Given the description of an element on the screen output the (x, y) to click on. 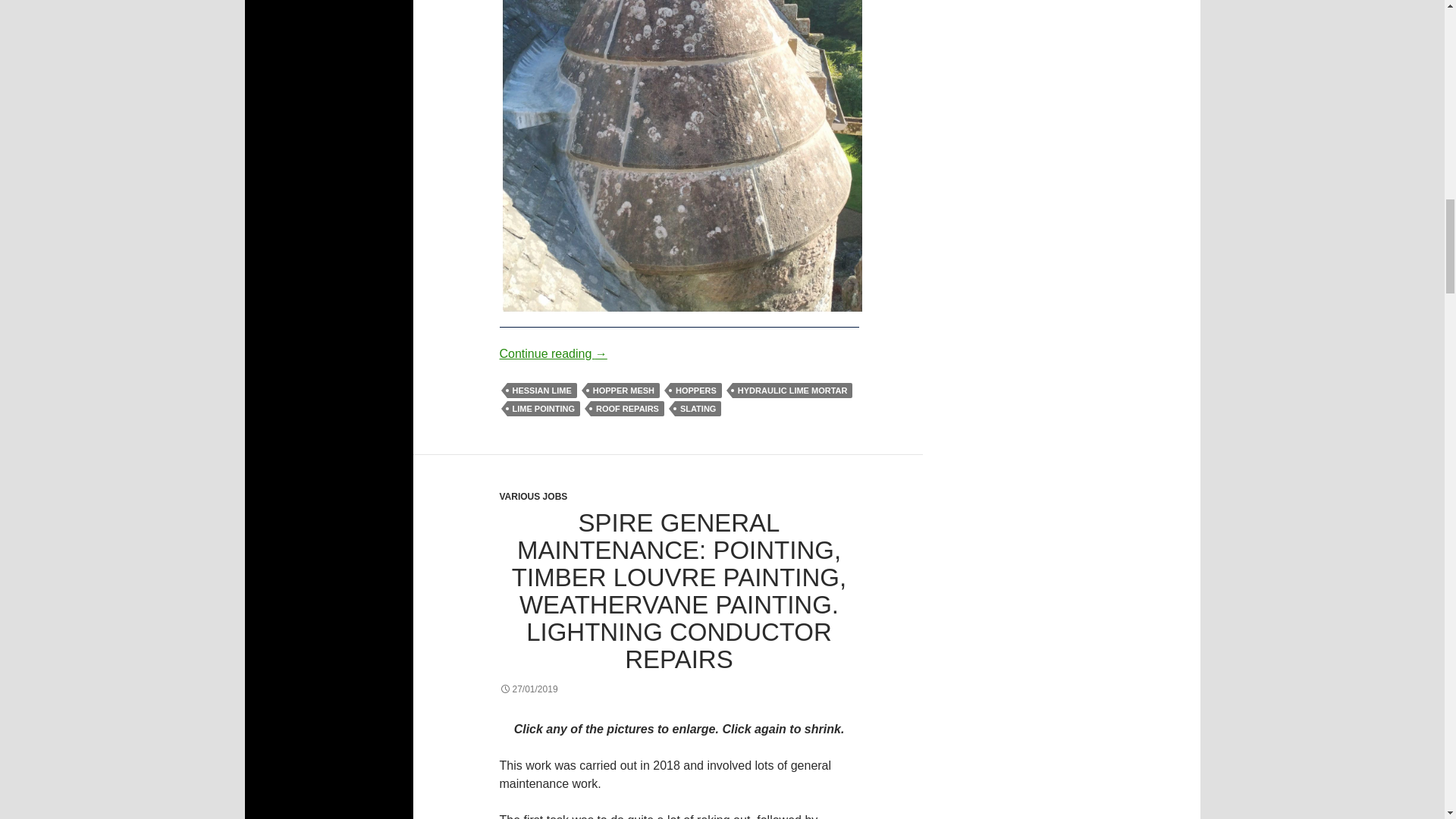
HYDRAULIC LIME MORTAR (792, 390)
HOPPER MESH (623, 390)
HOPPERS (695, 390)
ROOF REPAIRS (627, 408)
SLATING (697, 408)
HESSIAN LIME (541, 390)
VARIOUS JOBS (533, 496)
LIME POINTING (542, 408)
